Given the description of an element on the screen output the (x, y) to click on. 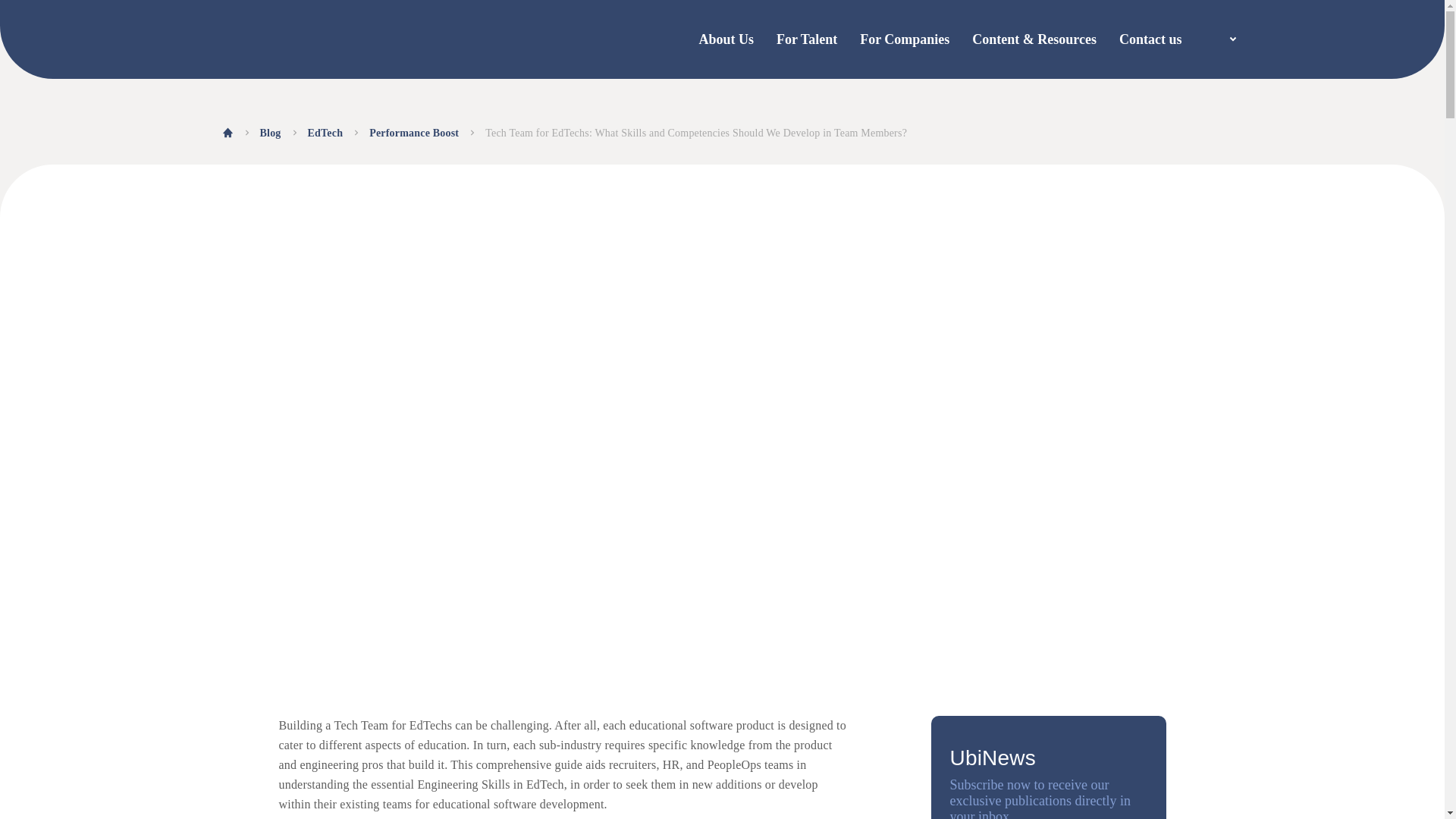
Contact us (1150, 39)
Performance Boost (413, 133)
About Us (726, 39)
EdTech (325, 133)
Blog (270, 133)
For Companies (904, 39)
For Talent (806, 39)
